Given the description of an element on the screen output the (x, y) to click on. 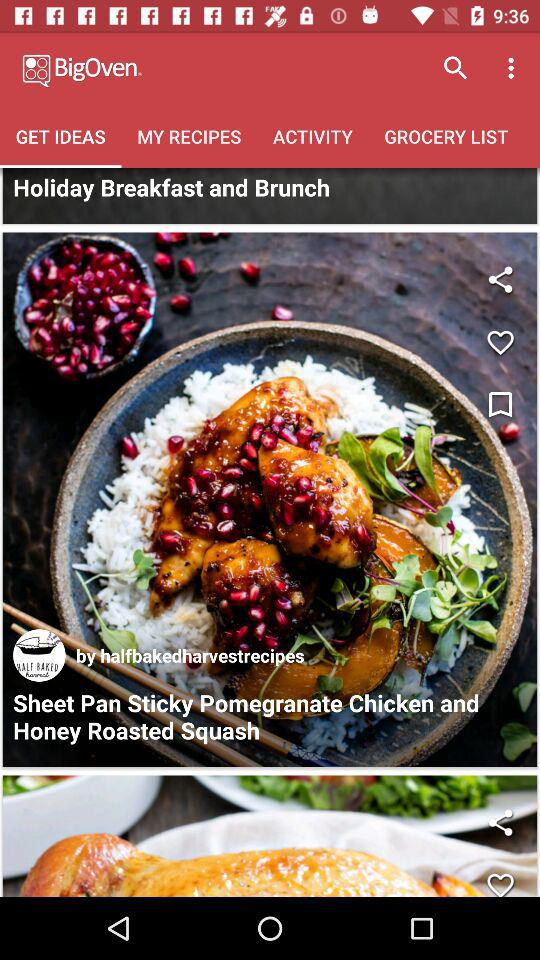
select the item above grocery list (513, 67)
